Given the description of an element on the screen output the (x, y) to click on. 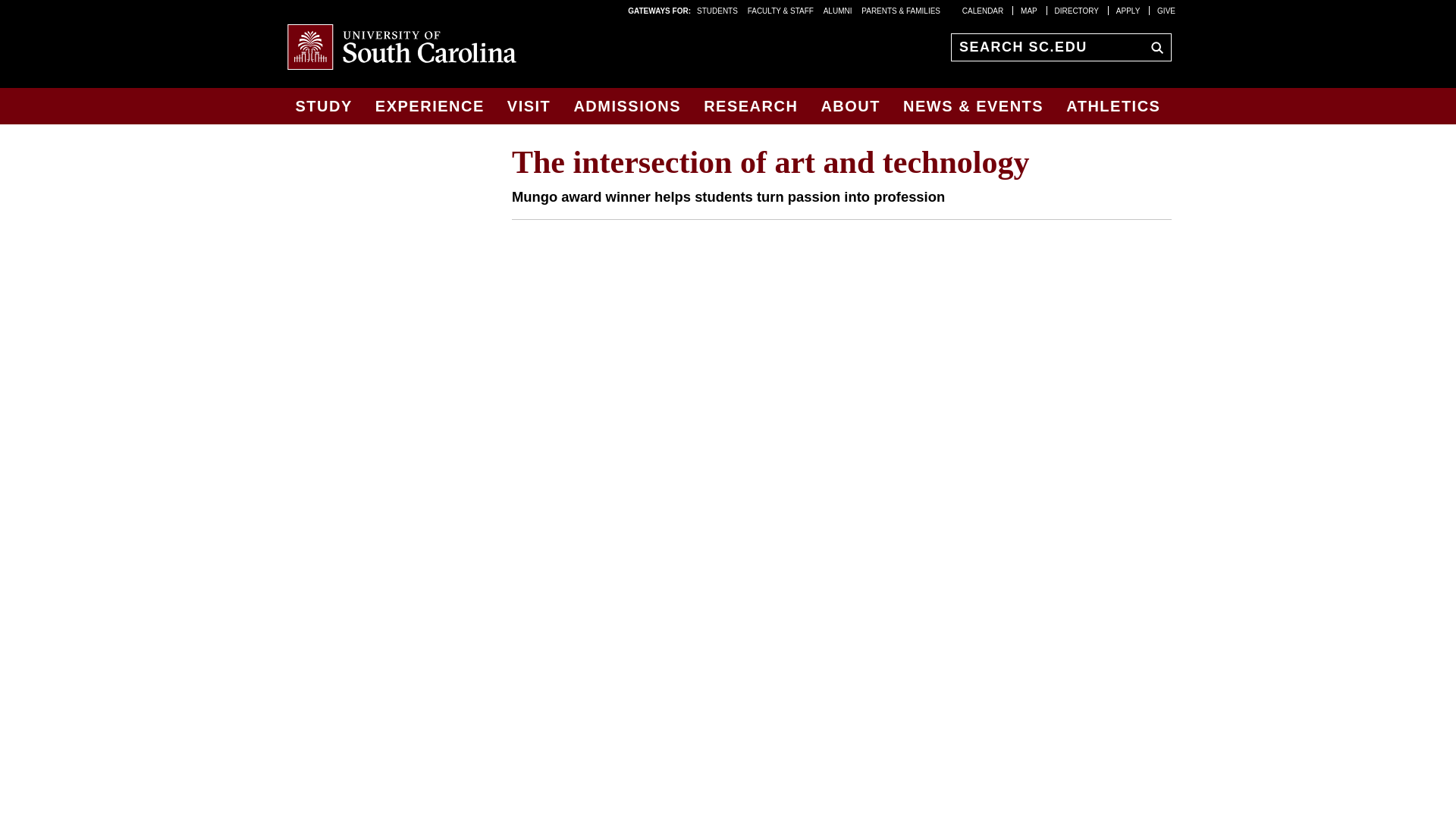
GO (1153, 46)
sc.edu Search (1153, 46)
EXPERIENCE (429, 105)
VISIT (529, 105)
CALENDAR (982, 9)
GIVE (1165, 9)
STUDENTS (718, 9)
STUDY (322, 105)
ALUMNI (837, 9)
MAP (1028, 9)
